Given the description of an element on the screen output the (x, y) to click on. 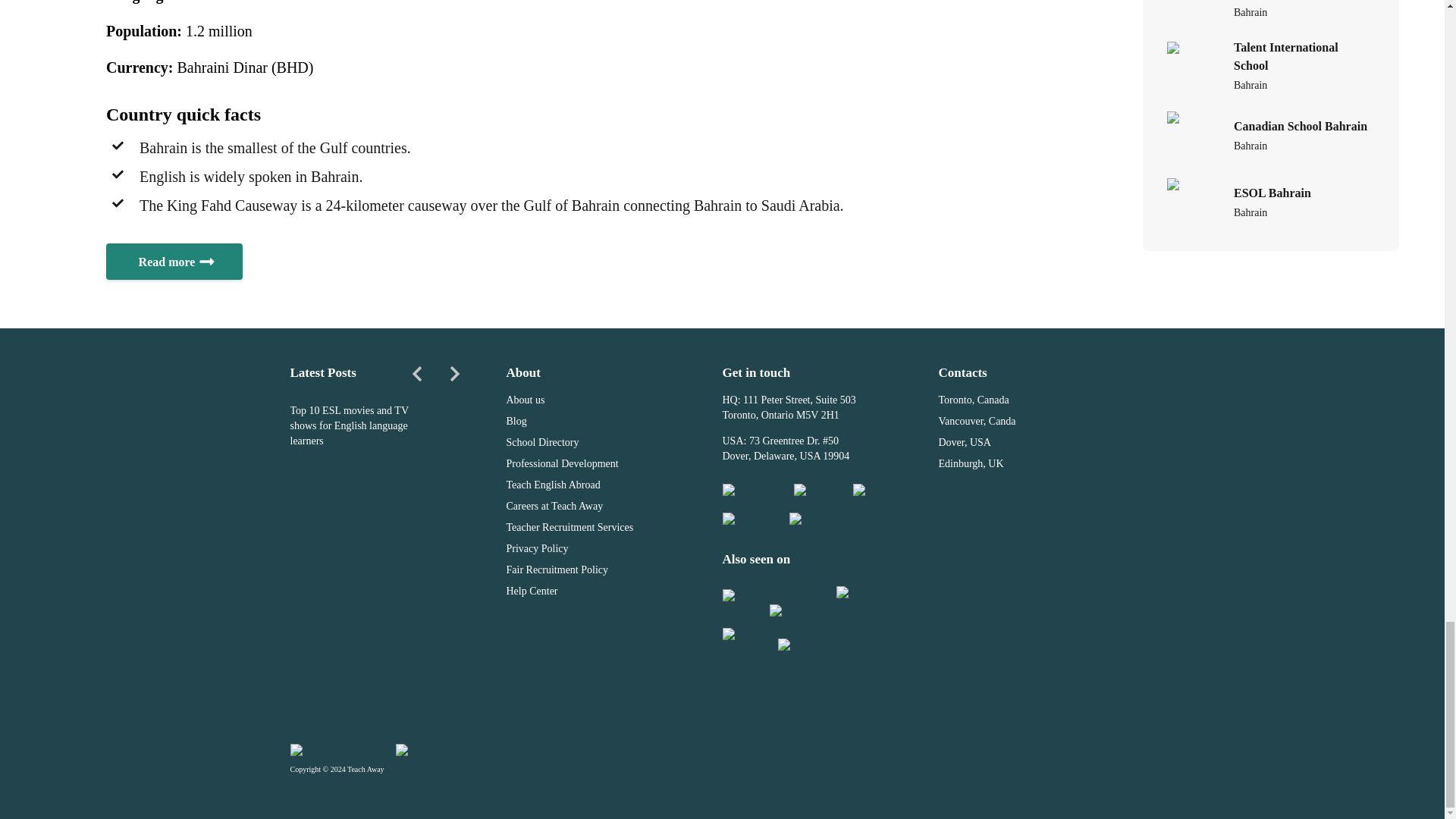
Checkmark Small Icon (117, 203)
Checkmark Small Icon (117, 145)
Checkmark Small Icon (117, 174)
